Given the description of an element on the screen output the (x, y) to click on. 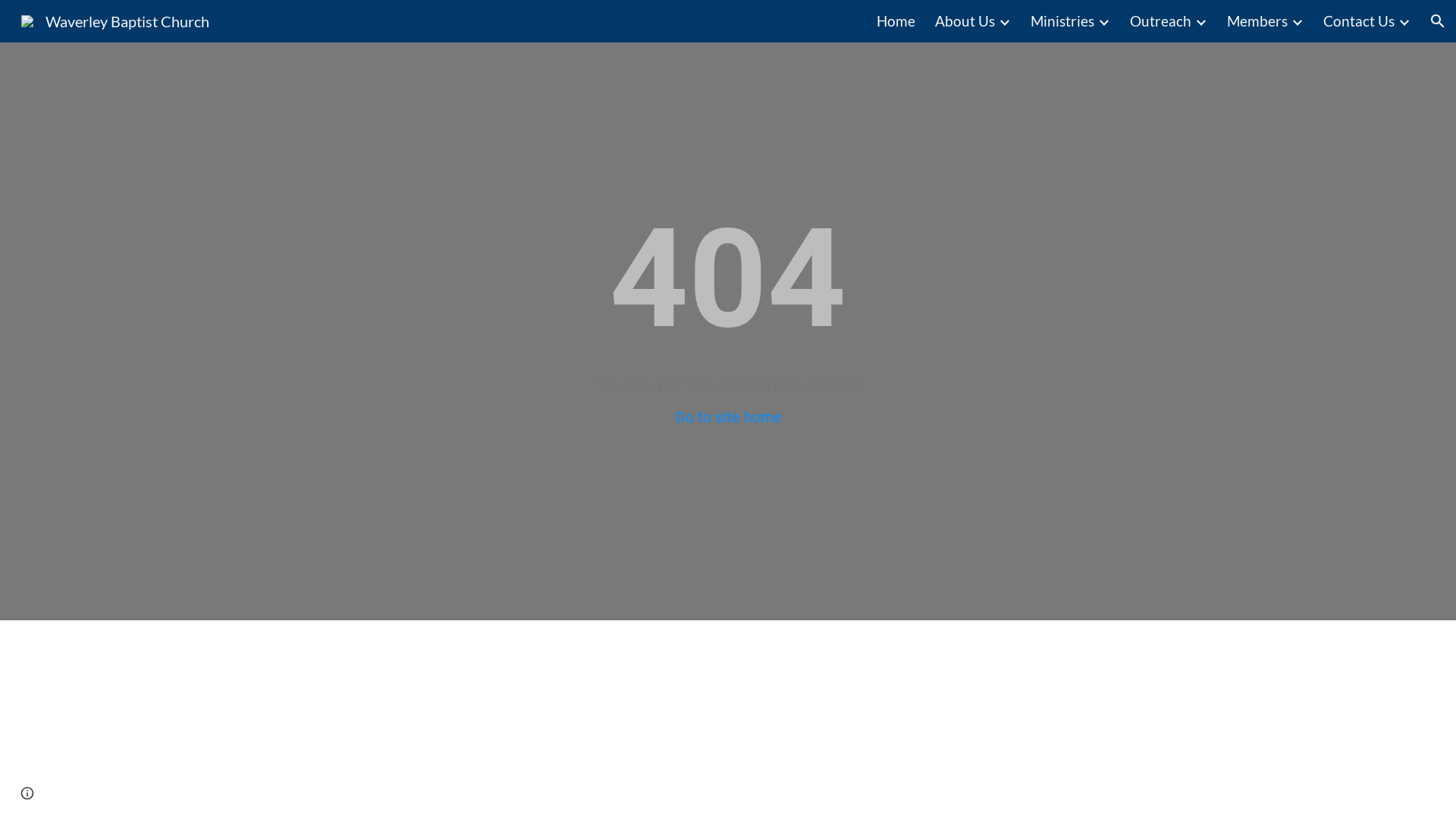
Expand/Collapse Element type: hover (1200, 20)
Expand/Collapse Element type: hover (1103, 20)
Contact Us Element type: text (1358, 20)
About Us Element type: text (964, 20)
Members Element type: text (1256, 20)
Waverley Baptist Church Element type: text (115, 18)
Expand/Collapse Element type: hover (1403, 20)
Ministries Element type: text (1062, 20)
Expand/Collapse Element type: hover (1003, 20)
Outreach Element type: text (1160, 20)
Expand/Collapse Element type: hover (1296, 20)
Go to site home Element type: text (727, 416)
Home Element type: text (895, 20)
